Given the description of an element on the screen output the (x, y) to click on. 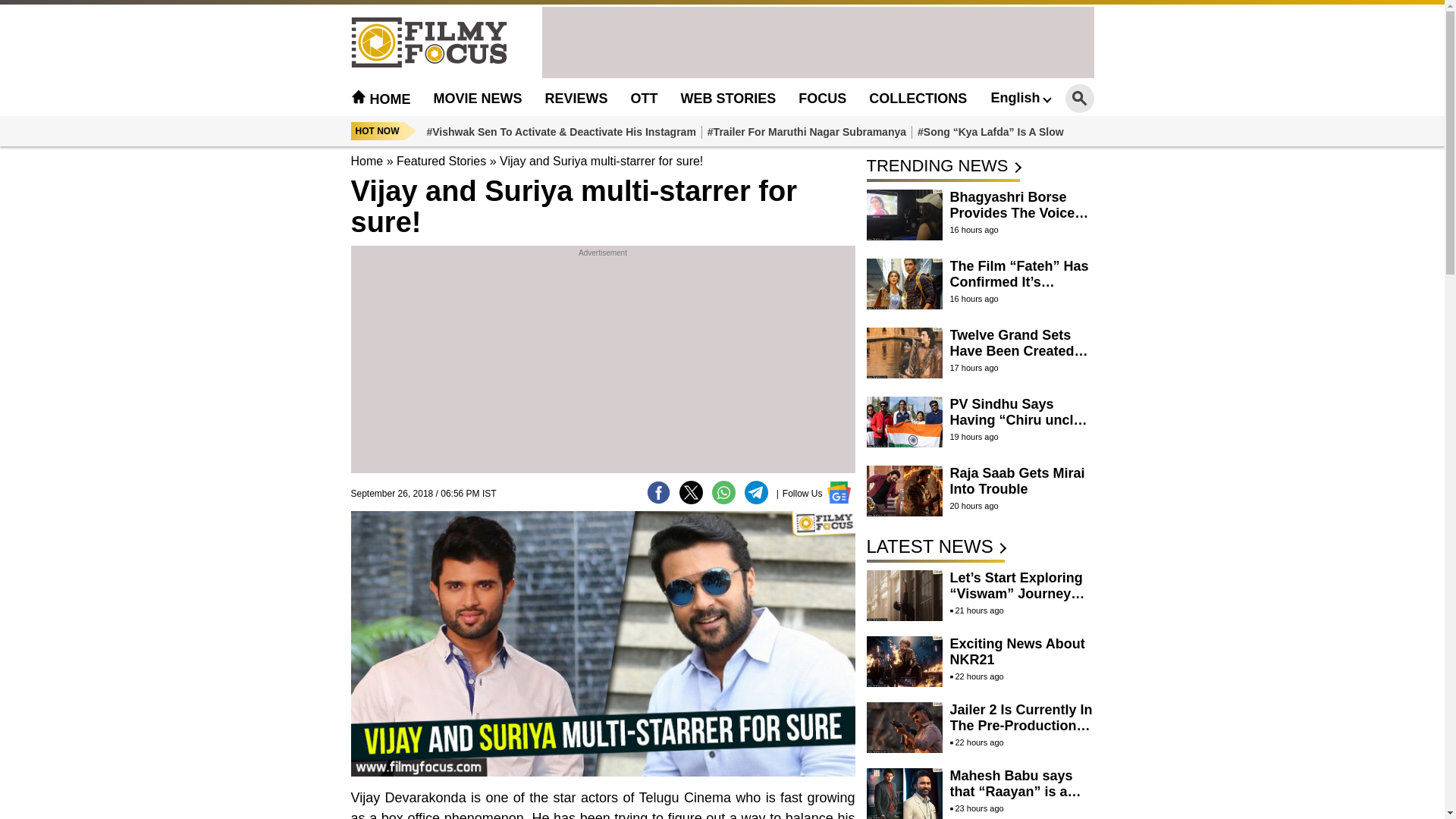
Reviews (576, 98)
Movie News (477, 98)
MOVIE NEWS (477, 98)
Focus (821, 98)
Collections (917, 98)
Home (366, 160)
WEB STORIES (728, 98)
Web Stories (728, 98)
Advertisement (602, 367)
OTT (644, 98)
Featured Stories (441, 160)
FOCUS (821, 98)
Advertisement (817, 40)
HOME (380, 99)
Home (380, 99)
